Given the description of an element on the screen output the (x, y) to click on. 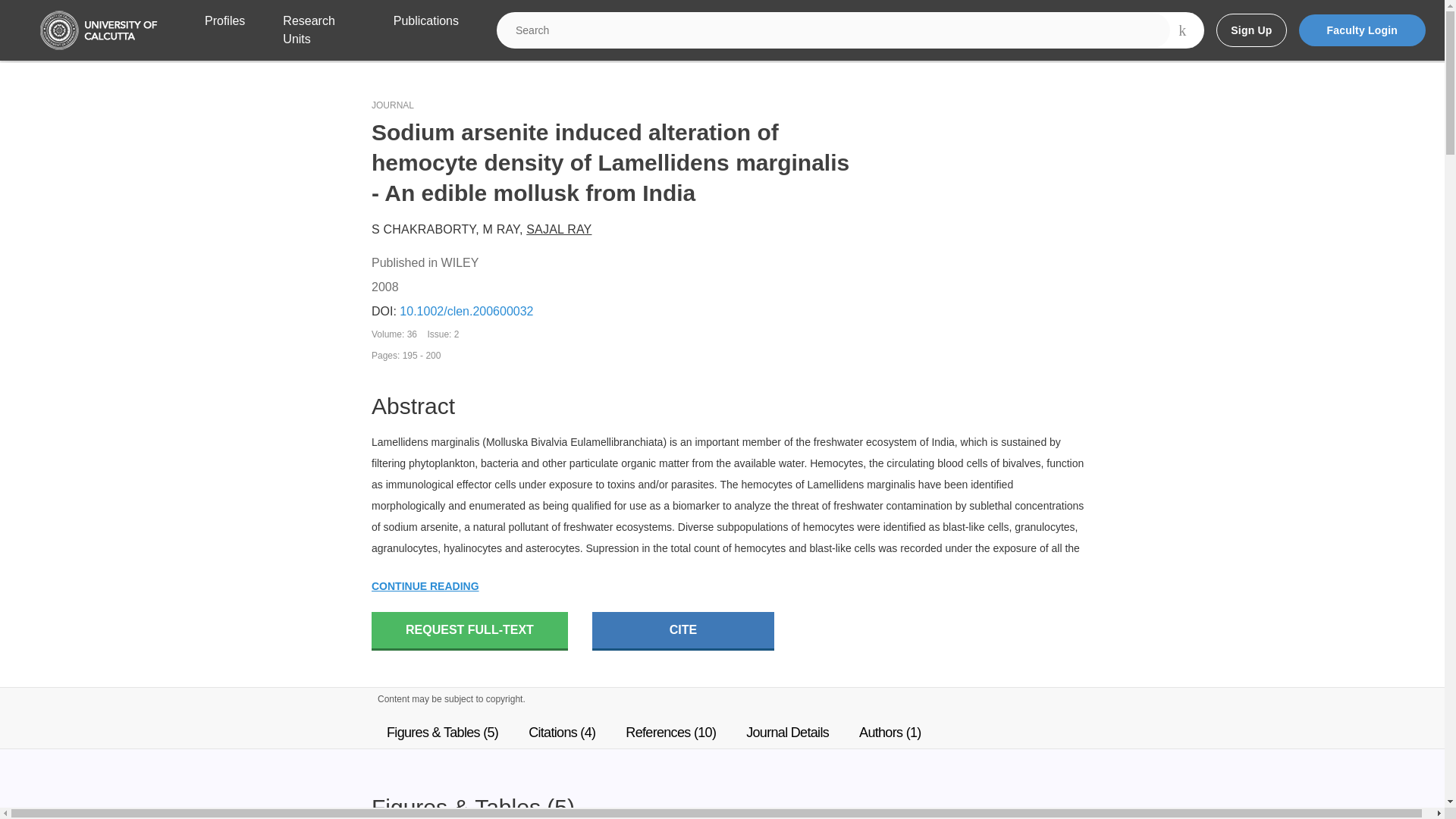
REQUEST FULL-TEXT (469, 630)
Institution logo (98, 30)
Faculty Login (1361, 29)
CITE (683, 630)
Research Units (318, 30)
Journal Details (787, 732)
Publications (425, 30)
Profiles (224, 30)
Sign Up (1250, 29)
SAJAL RAY (558, 228)
